Given the description of an element on the screen output the (x, y) to click on. 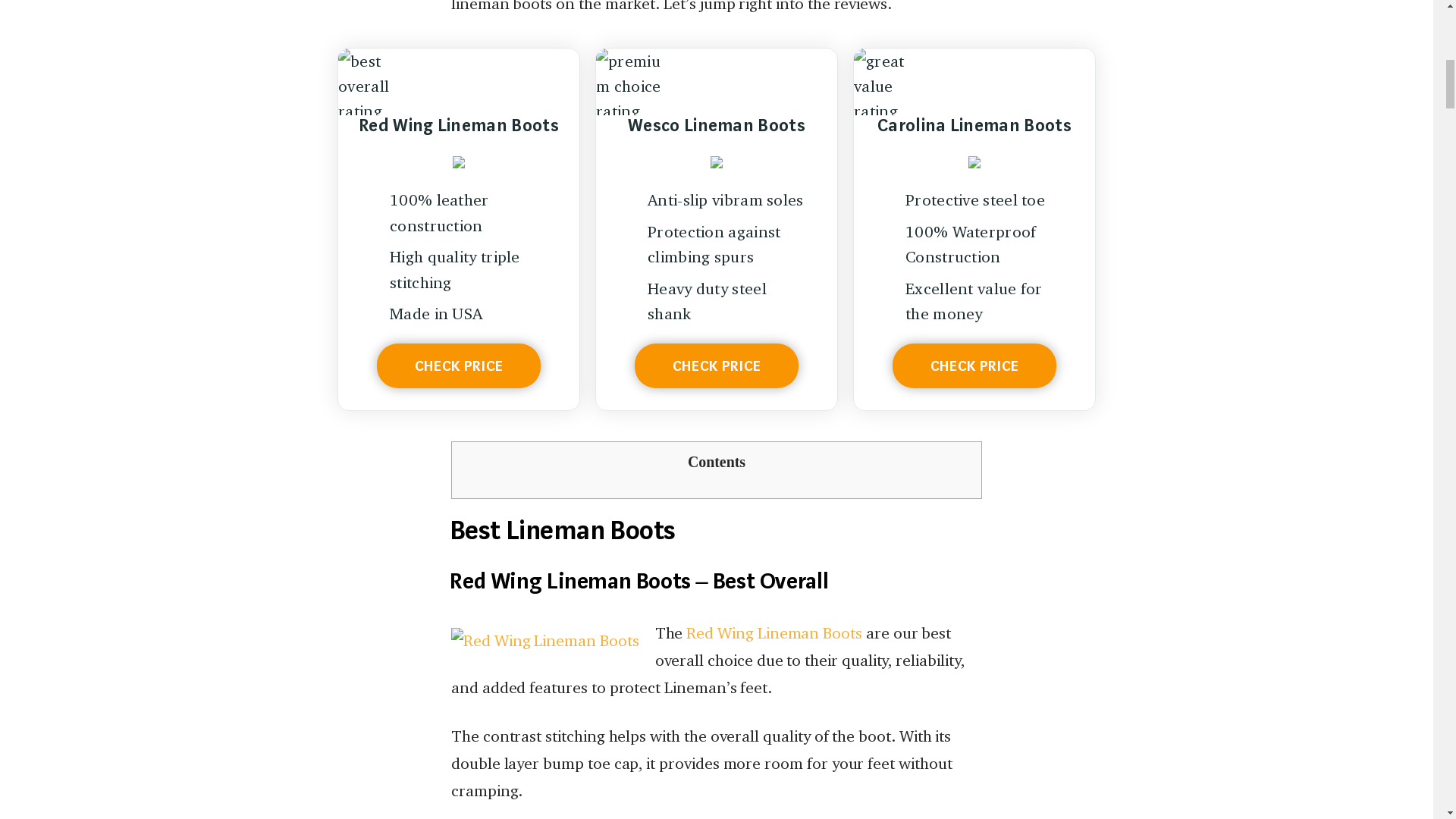
Carolina Lineman Boots (974, 142)
CHECK PRICE (458, 365)
Wesco Lineman Boots (716, 142)
Red Wing Lineman Boots (773, 632)
CHECK PRICE (715, 365)
Red Wing Lineman Boots (458, 142)
CHECK PRICE (974, 365)
